Given the description of an element on the screen output the (x, y) to click on. 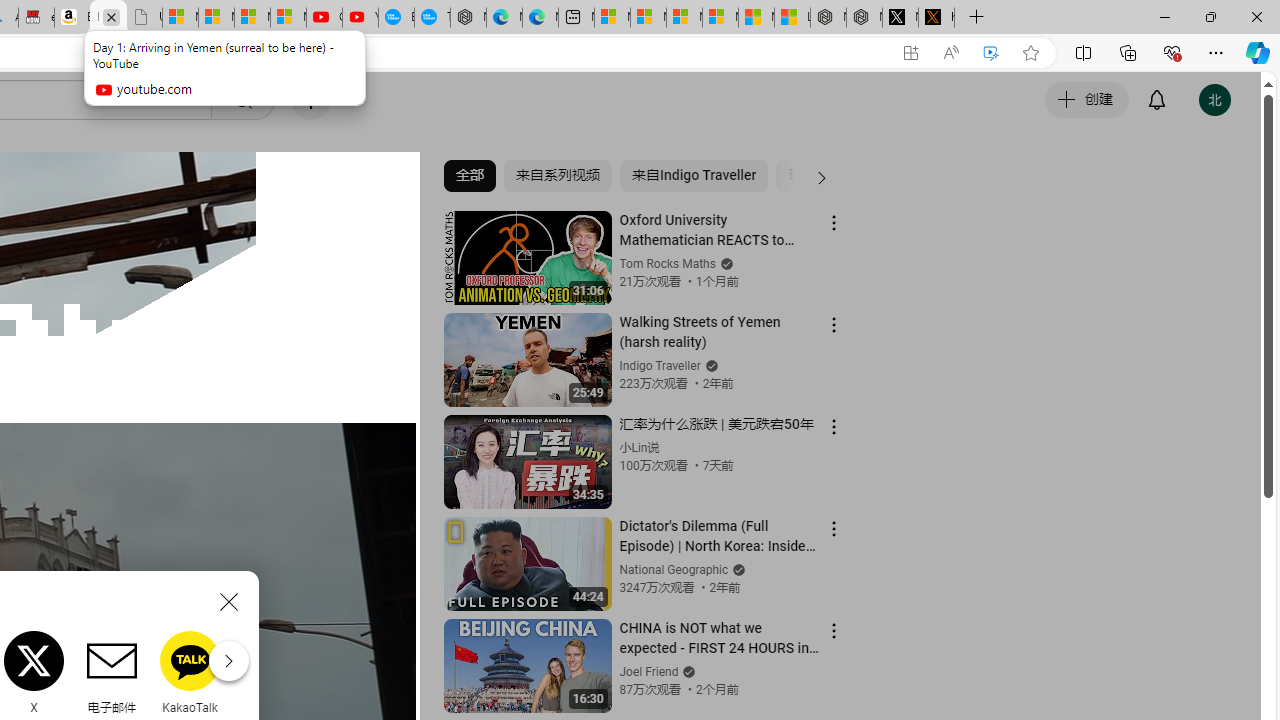
Reddit (267, 672)
Microsoft account | Privacy (720, 17)
Enhance video (991, 53)
Nordace (@NordaceOfficial) / X (900, 17)
